Given the description of an element on the screen output the (x, y) to click on. 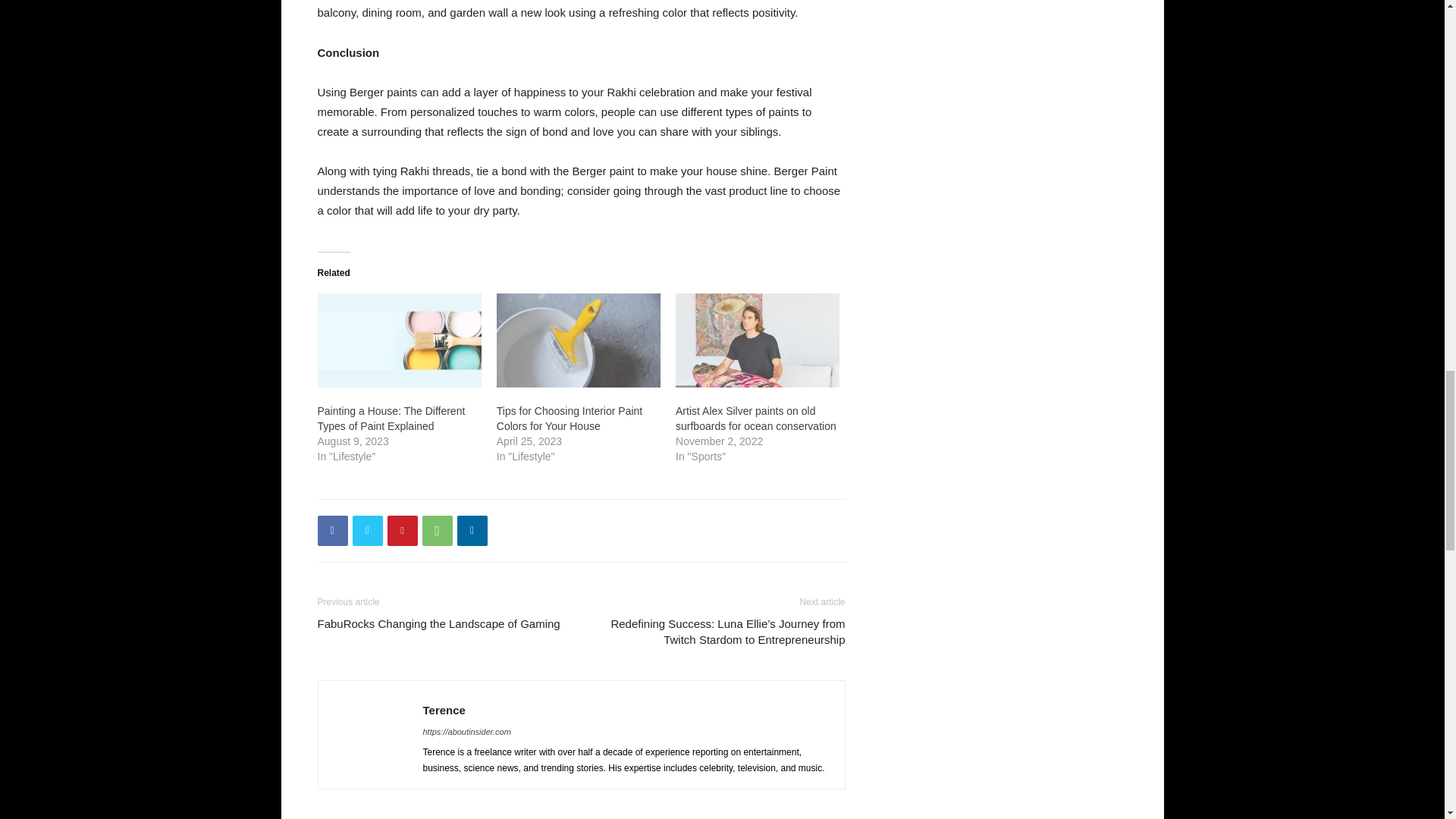
Painting a House: The Different Types of Paint Explained (398, 340)
Tips for Choosing Interior Paint Colors for Your House (569, 418)
Painting a House: The Different Types of Paint Explained (390, 418)
